Given the description of an element on the screen output the (x, y) to click on. 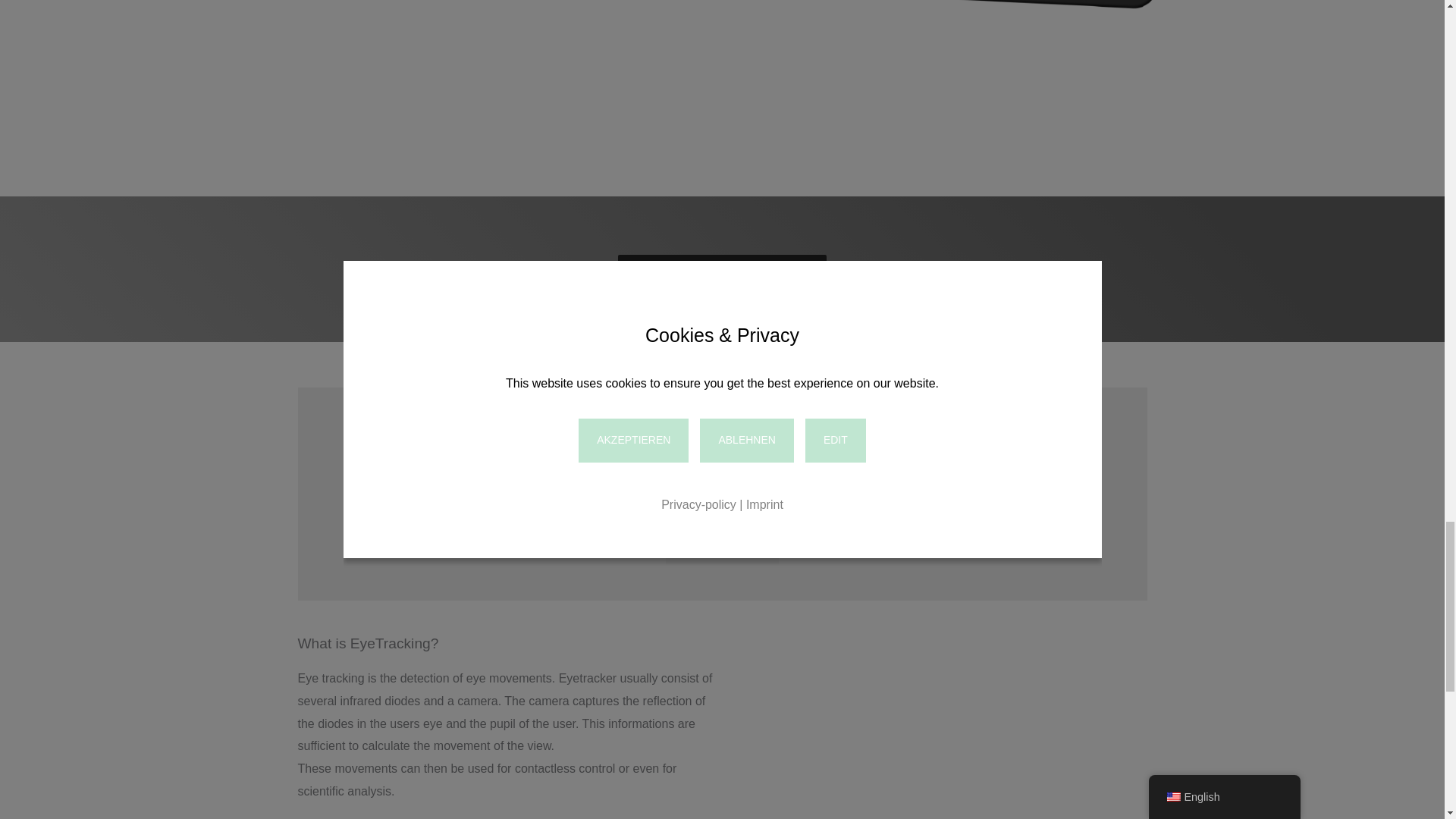
Accept and view (721, 550)
Get to know our network (722, 268)
privacy policy (721, 457)
on (624, 501)
